Given the description of an element on the screen output the (x, y) to click on. 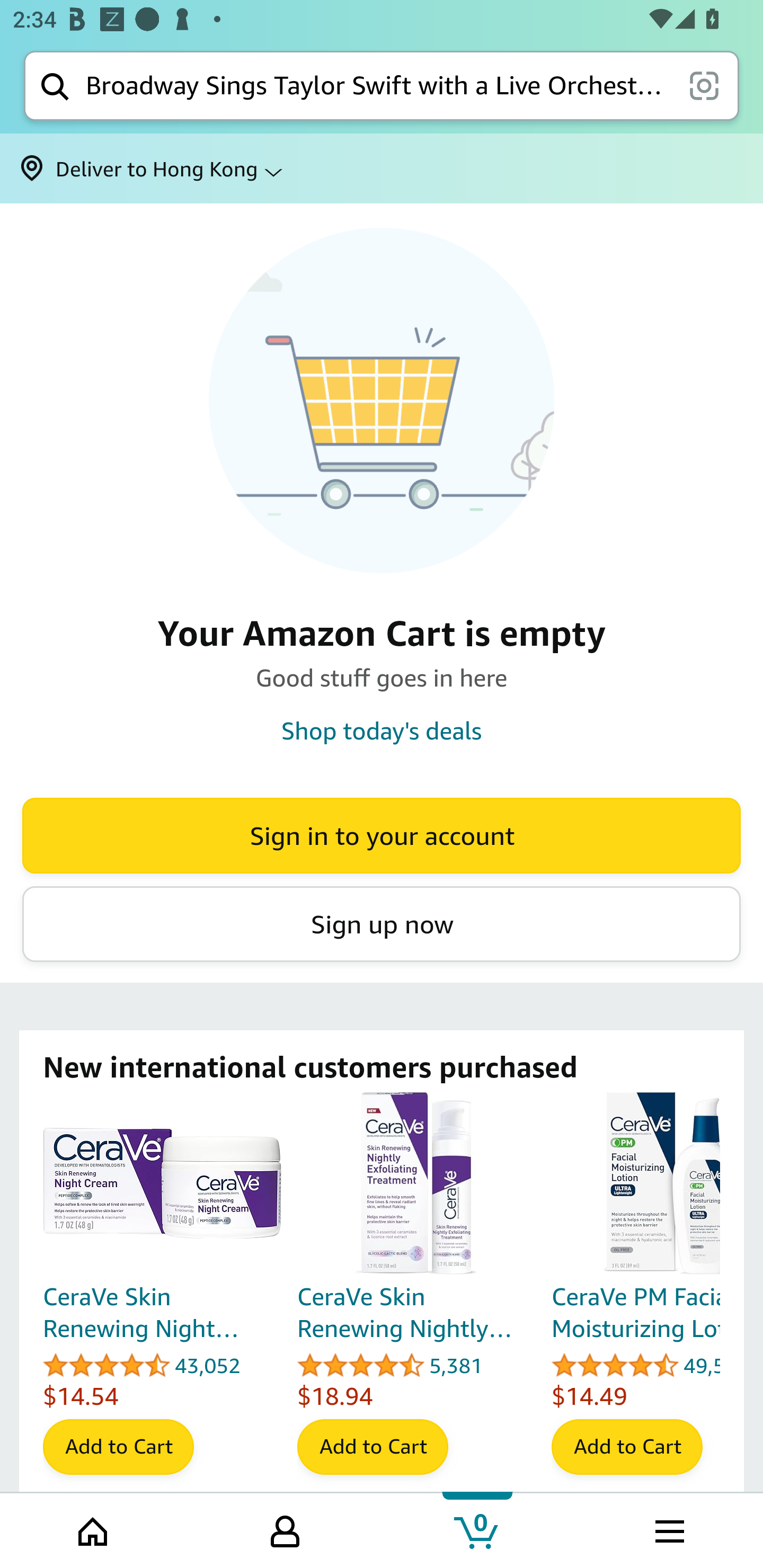
scan it (704, 85)
Deliver to Hong Kong ⌵ (381, 168)
Shop today's deals (381, 729)
Sign in to your account (381, 835)
Sign up now (381, 924)
Add to Cart (118, 1447)
Add to Cart (372, 1447)
Add to Cart (627, 1447)
Home Tab 1 of 4 (94, 1529)
Your Amazon.com Tab 2 of 4 (285, 1529)
Cart 0 item Tab 3 of 4 0 (477, 1529)
Browse menu Tab 4 of 4 (668, 1529)
